Given the description of an element on the screen output the (x, y) to click on. 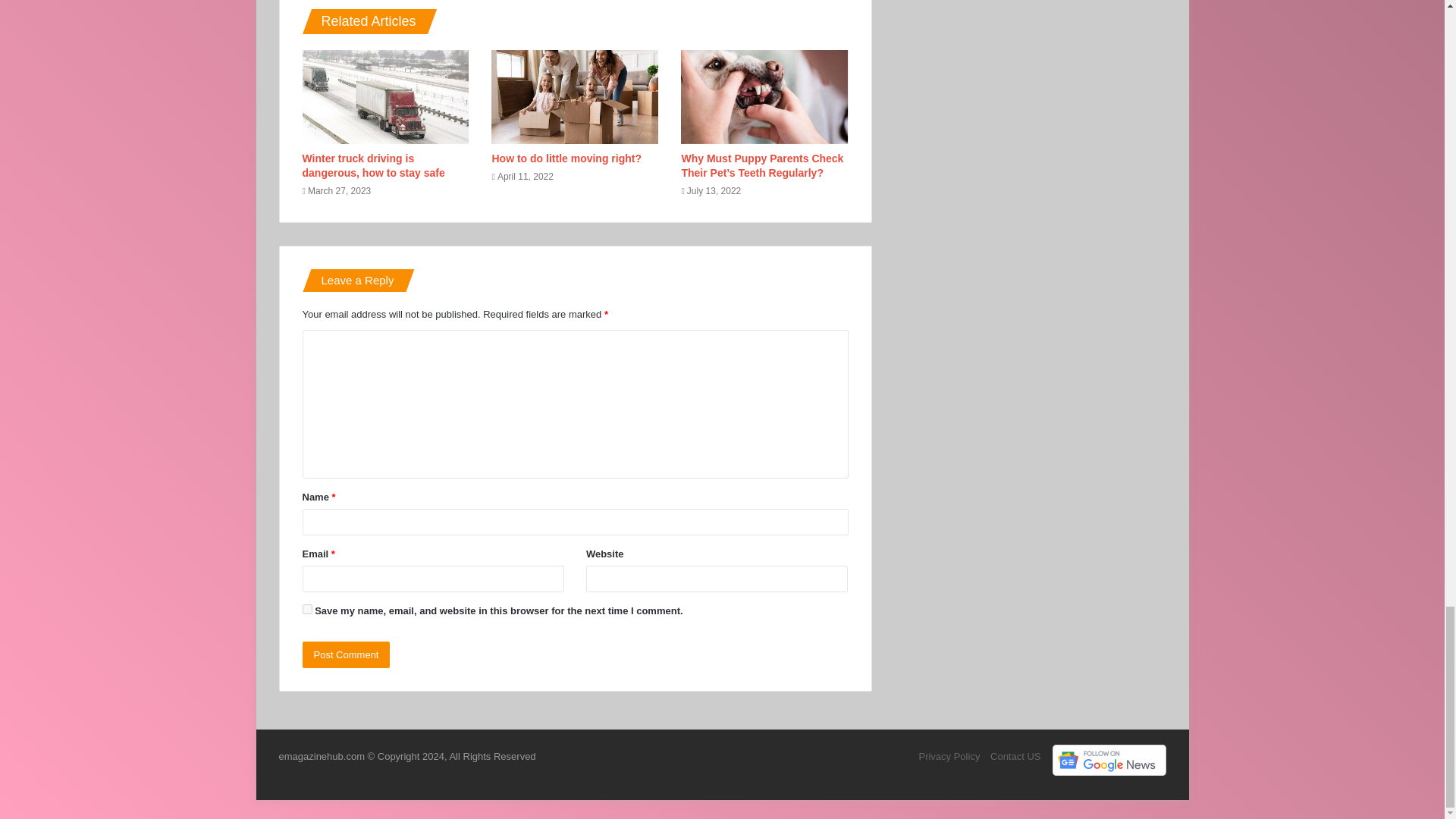
yes (306, 609)
How to do little moving right? (567, 158)
Winter truck driving is dangerous, how to stay safe (372, 165)
Post Comment (345, 654)
